Given the description of an element on the screen output the (x, y) to click on. 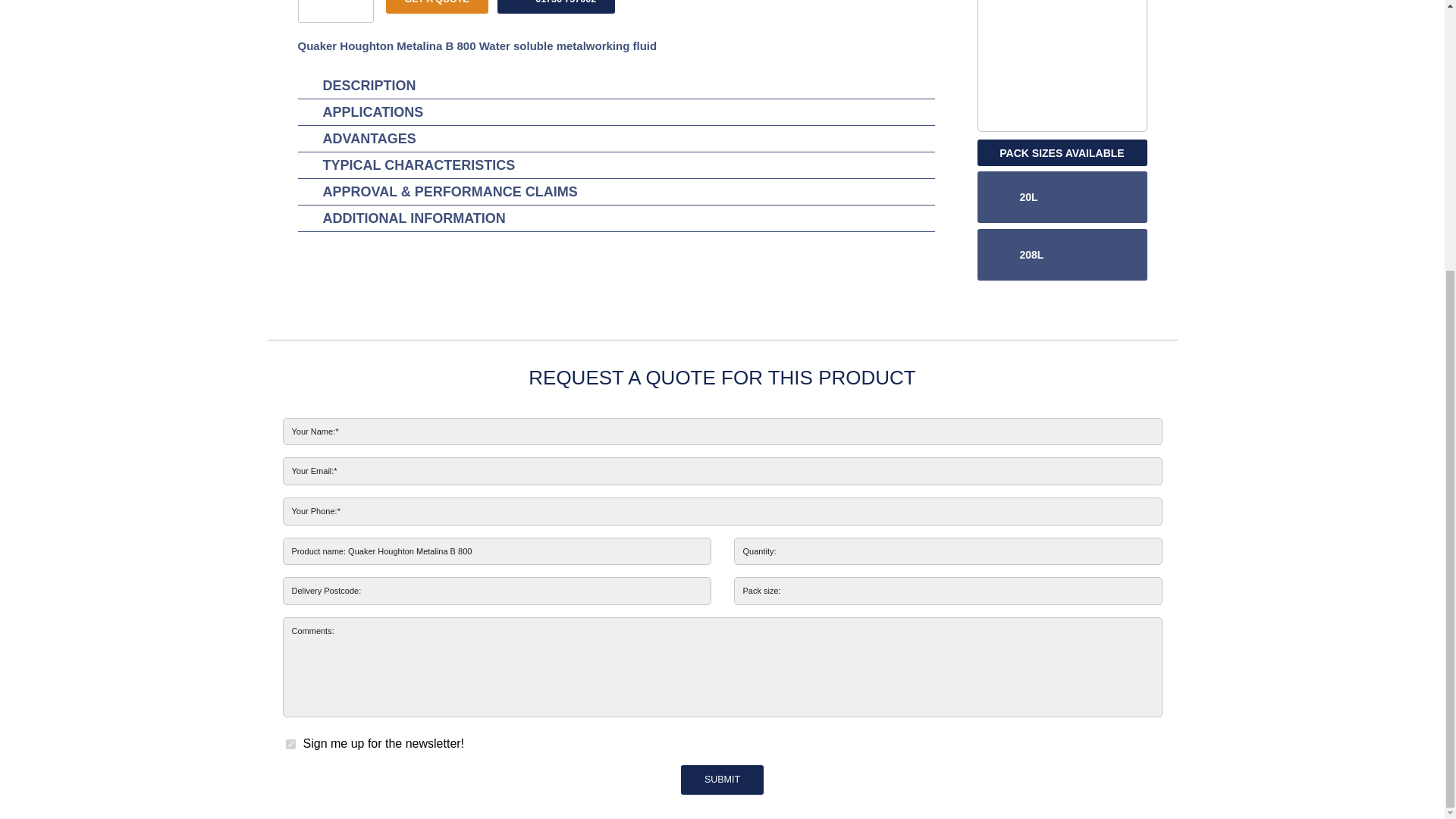
1 (290, 744)
Product name: Quaker Houghton Metalina B 800 (496, 551)
SUBMIT (722, 779)
